Given the description of an element on the screen output the (x, y) to click on. 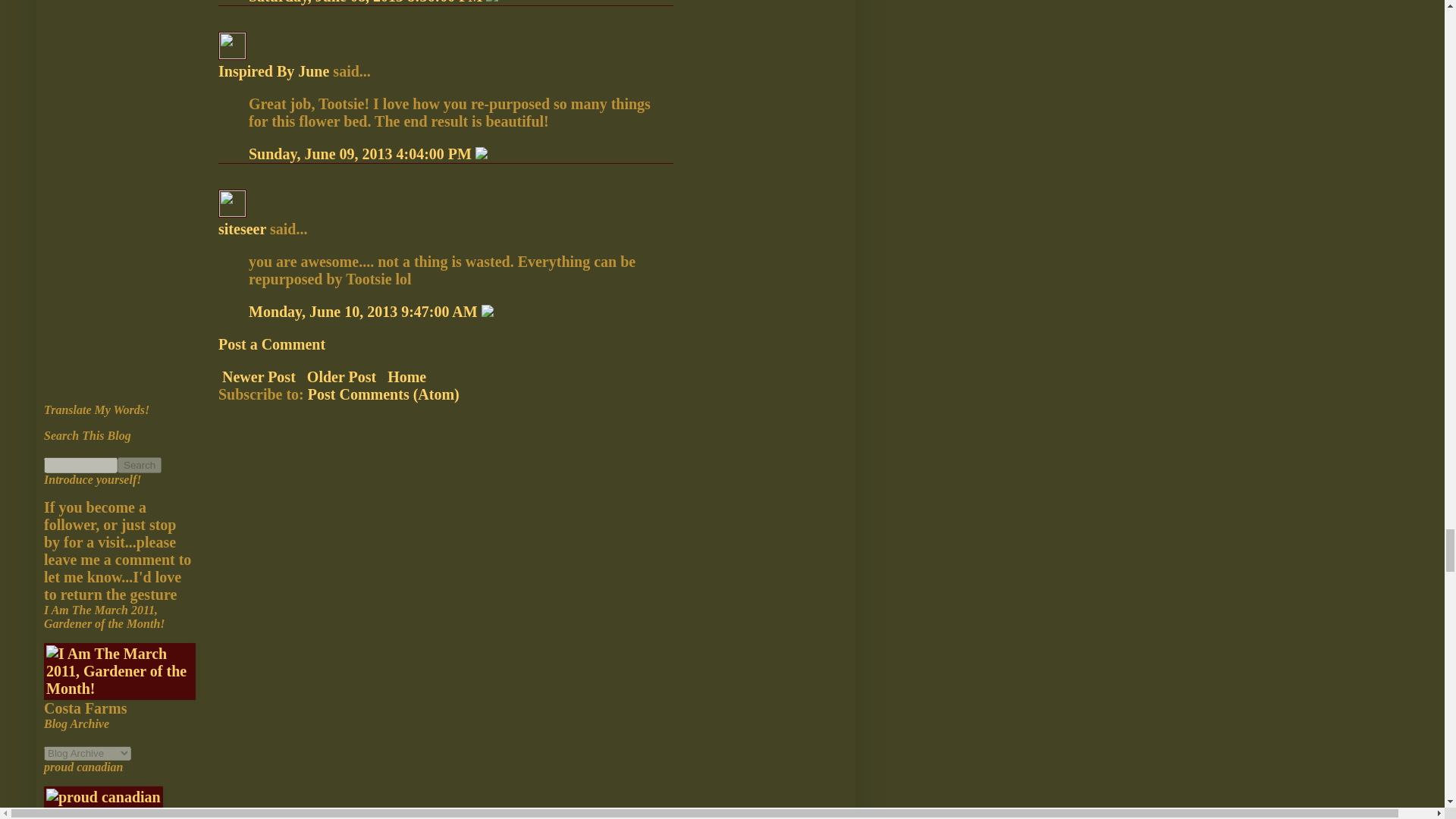
Search (139, 464)
Search (139, 464)
